Given the description of an element on the screen output the (x, y) to click on. 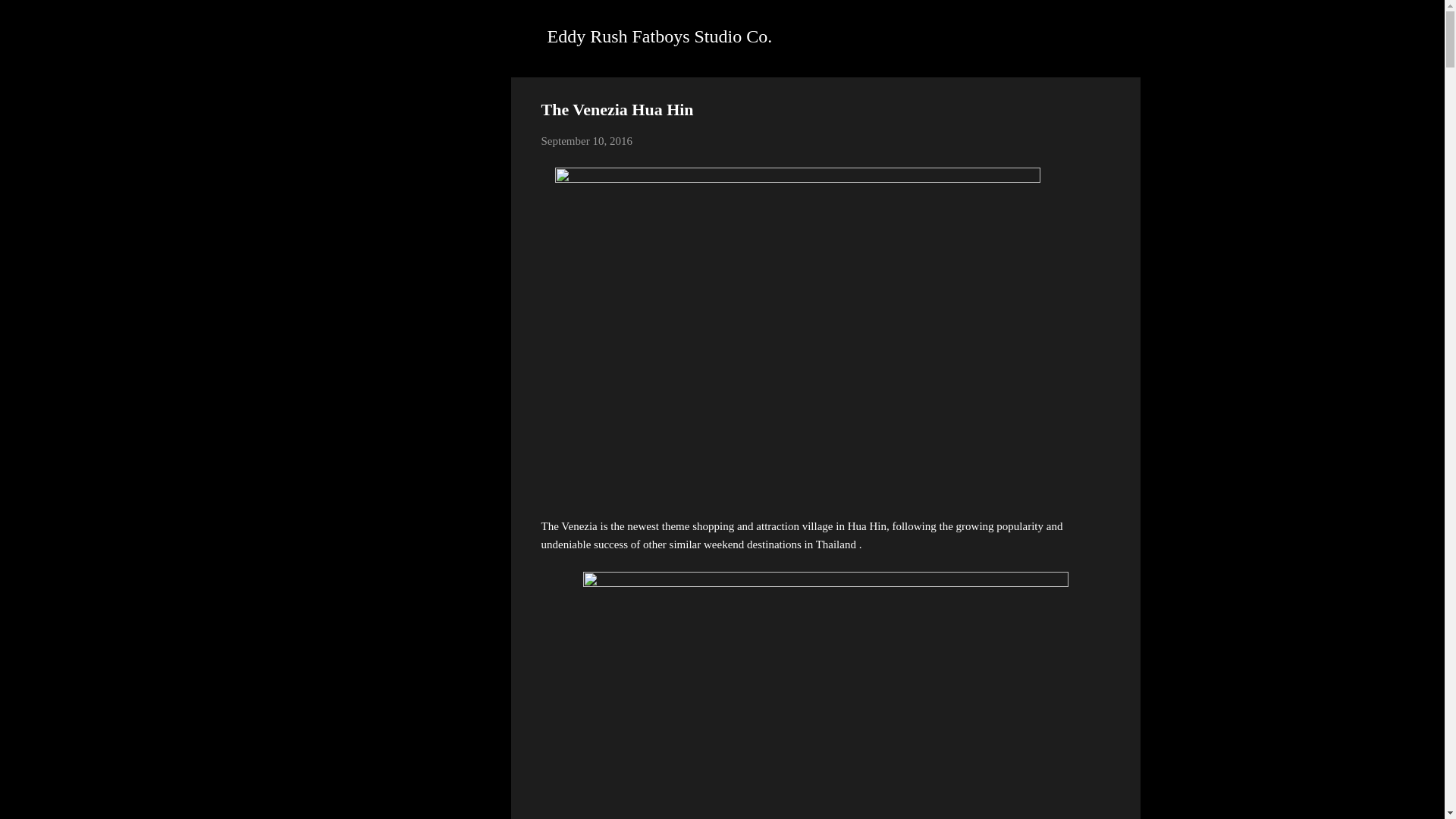
permanent link (586, 141)
Eddy Rush Fatboys Studio Co. (660, 35)
September 10, 2016 (586, 141)
Search (29, 18)
